Given the description of an element on the screen output the (x, y) to click on. 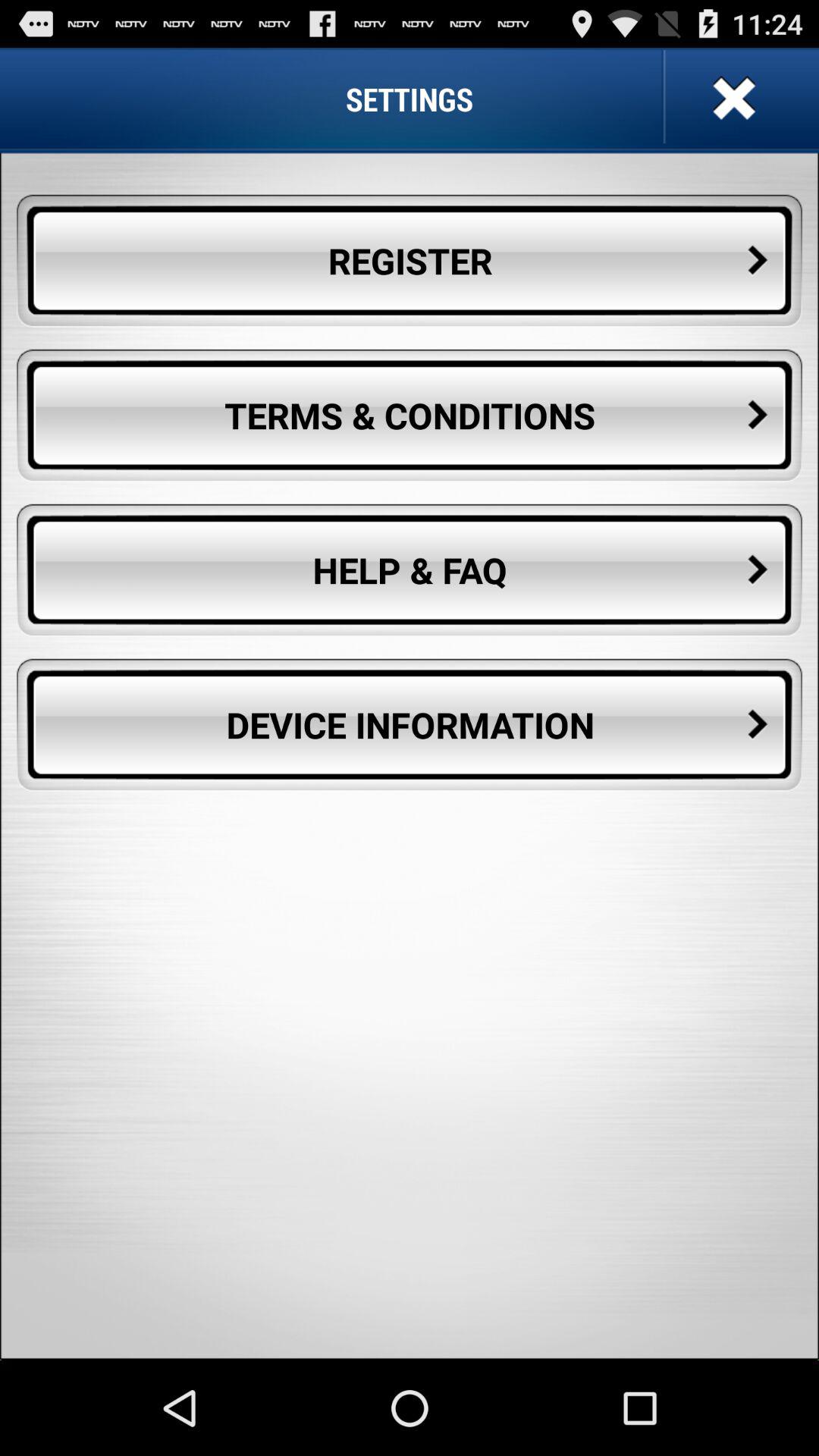
select item below the register icon (409, 415)
